Given the description of an element on the screen output the (x, y) to click on. 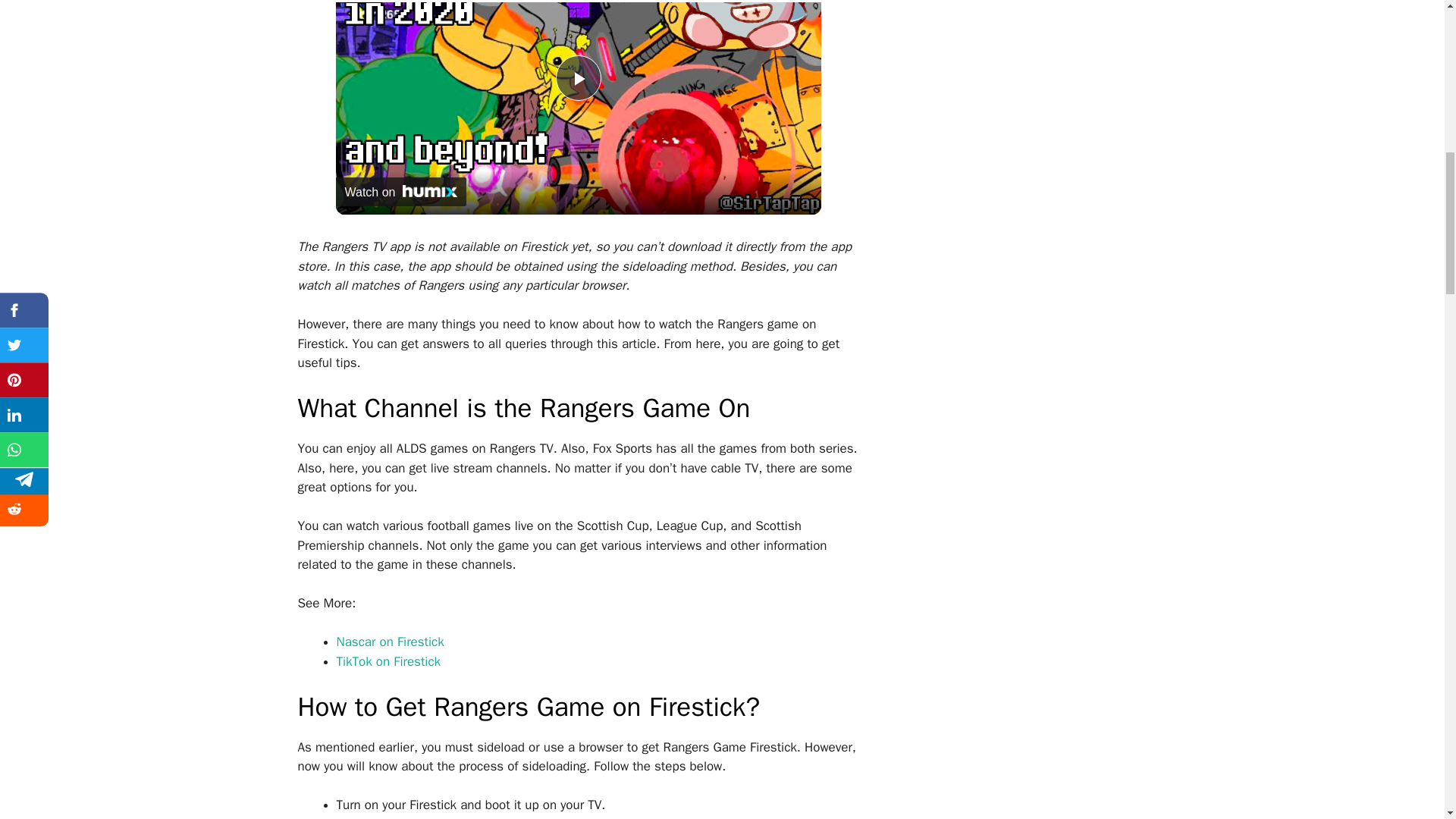
TikTok on Firestick (388, 661)
Play Video (576, 77)
Scroll back to top (1406, 720)
Play Video (576, 77)
Nascar on Firestick (390, 641)
Watch on (399, 191)
